Given the description of an element on the screen output the (x, y) to click on. 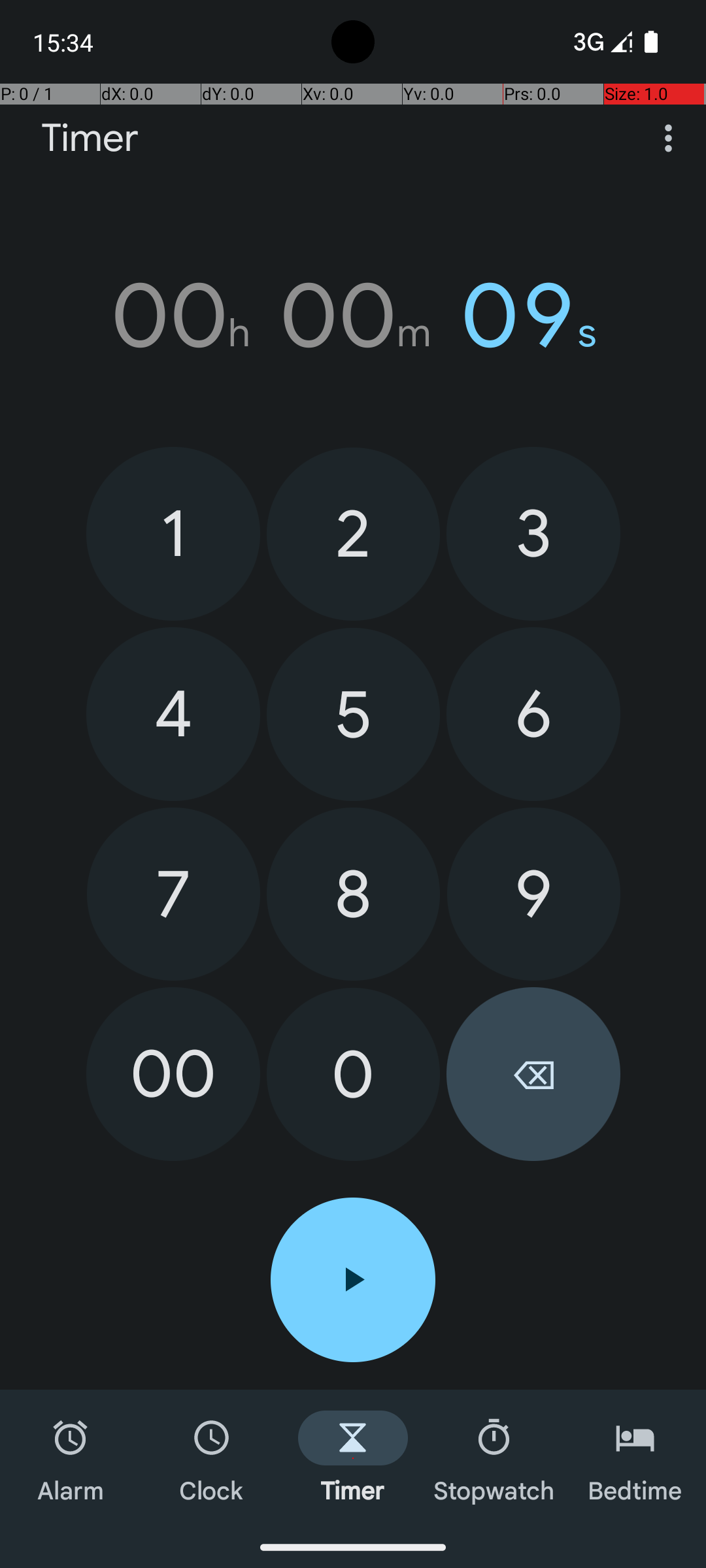
00h 00m 09s Element type: android.widget.TextView (353, 315)
